Given the description of an element on the screen output the (x, y) to click on. 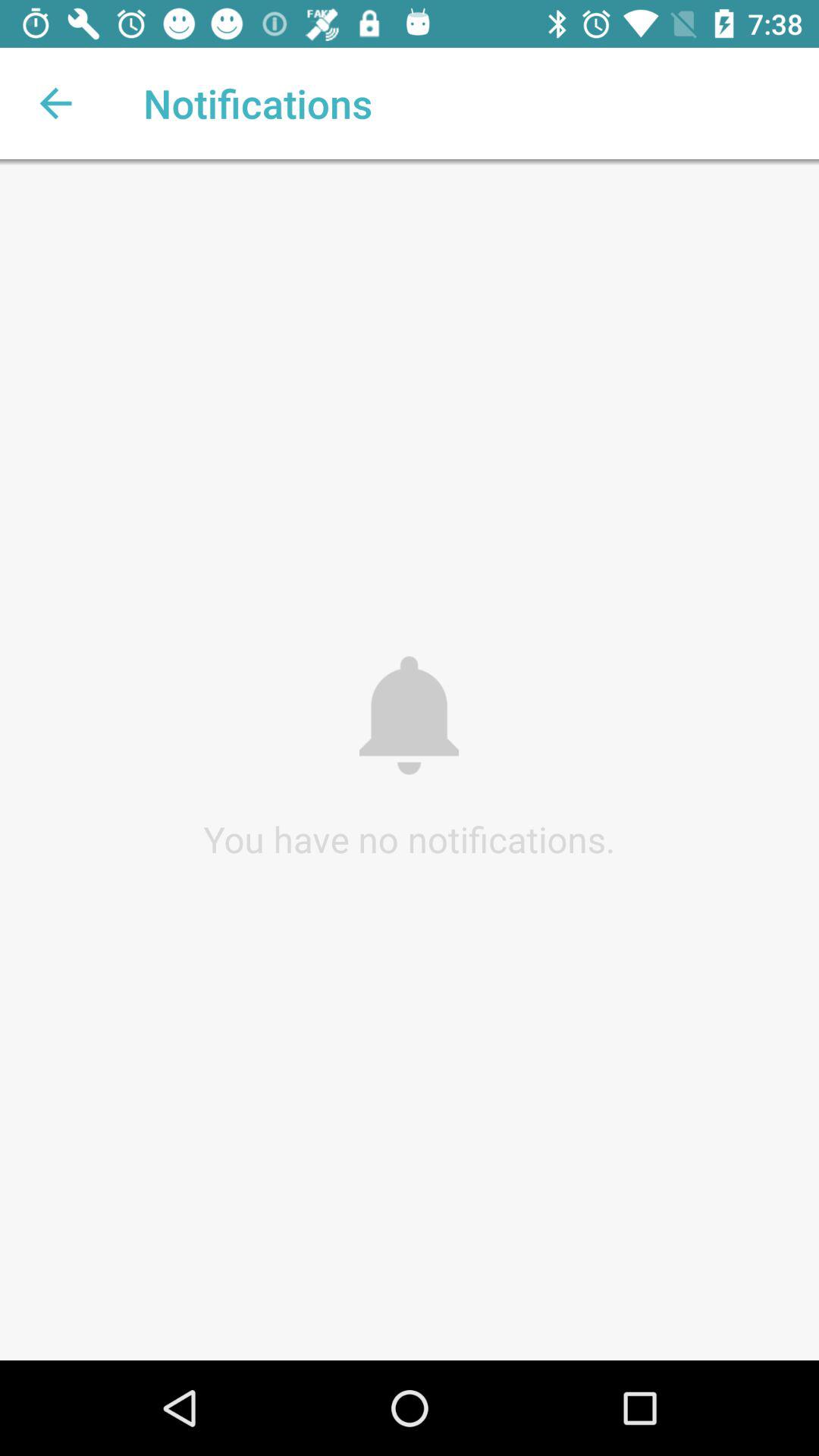
tap the item next to notifications item (55, 103)
